Given the description of an element on the screen output the (x, y) to click on. 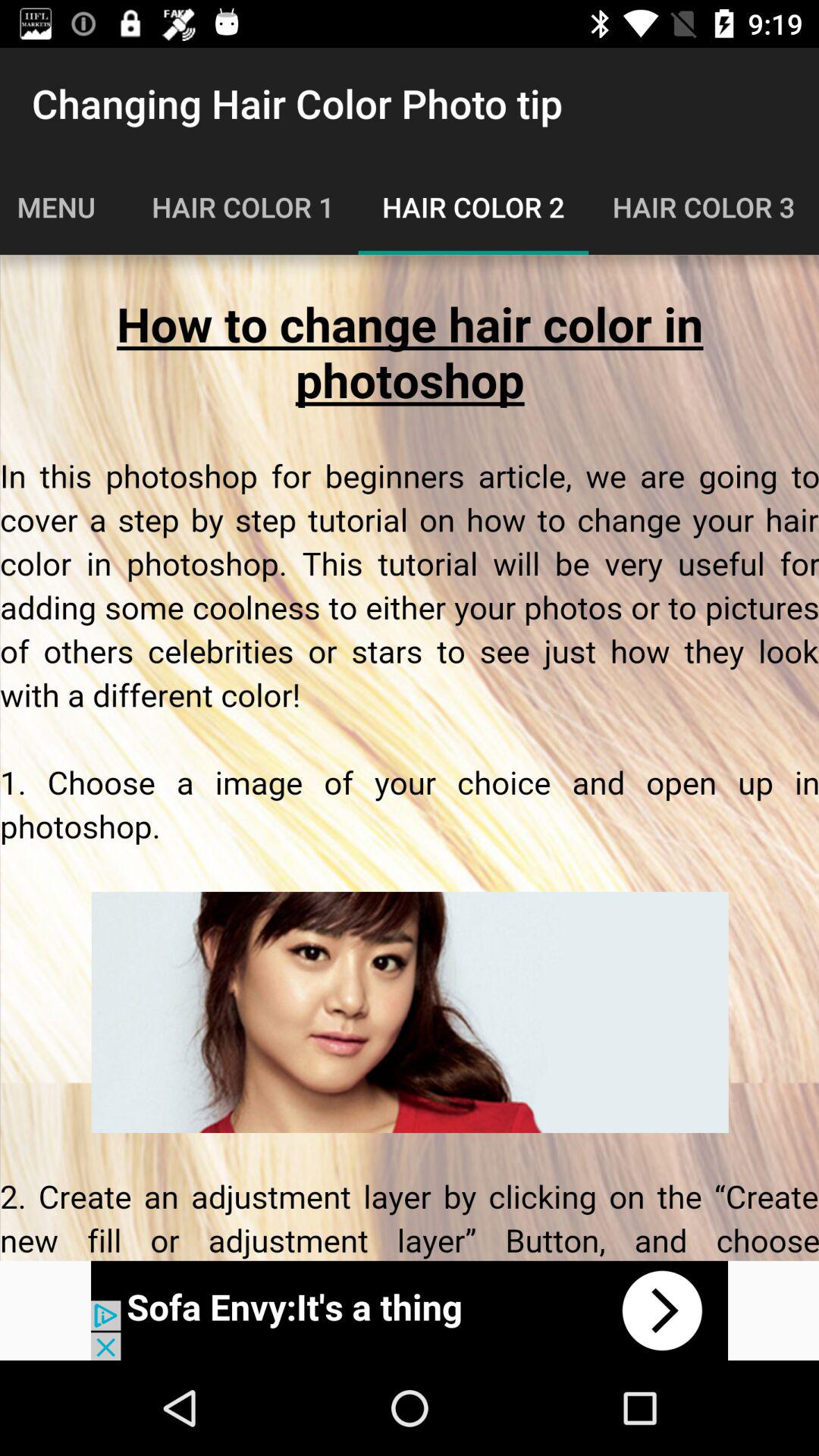
open google advertisement (409, 1310)
